Given the description of an element on the screen output the (x, y) to click on. 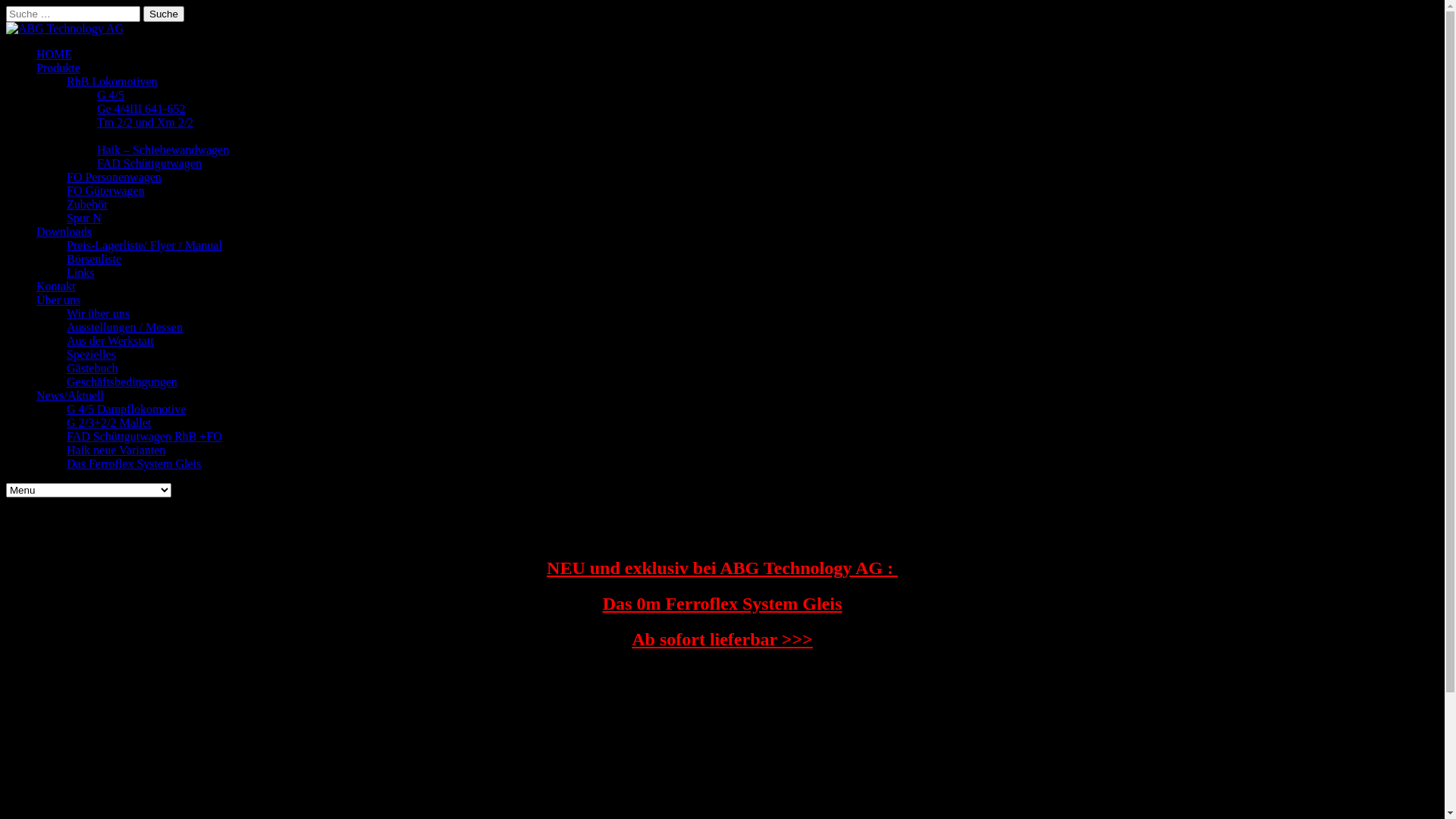
Spur N Element type: text (83, 217)
NEU und exklusiv bei ABG Technology AG :  Element type: text (721, 567)
RhB Lokomotiven Element type: text (111, 81)
HOME Element type: text (54, 53)
Kontakt Element type: text (55, 285)
News/Aktuell Element type: text (69, 395)
Das Ferroflex System Gleis Element type: text (133, 463)
Links Element type: text (80, 272)
G 4/5 Dampflokomotive Element type: text (125, 408)
Tm 2/2 und Xm 2/2 Element type: text (145, 122)
ABG Technology AG Element type: hover (64, 27)
Aus der Werkstatt Element type: text (109, 340)
Produkte Element type: text (58, 67)
Spezielles Element type: text (91, 354)
Preis-Lagerliste/ Flyer / Manual Element type: text (144, 244)
Ge 4/4III 641-652 Element type: text (141, 108)
Suche Element type: text (163, 13)
Ausstellungen / Messen Element type: text (124, 326)
G 4/5 Element type: text (110, 94)
Haik neue Varianten Element type: text (115, 449)
G 2/3+2/2 Mallet Element type: text (108, 422)
Das 0m Ferroflex System Gleis Element type: text (721, 603)
FO Personenwagen Element type: text (113, 176)
Ab sofort lieferbar >>> Element type: text (721, 639)
Downloads Element type: text (63, 231)
